Given the description of an element on the screen output the (x, y) to click on. 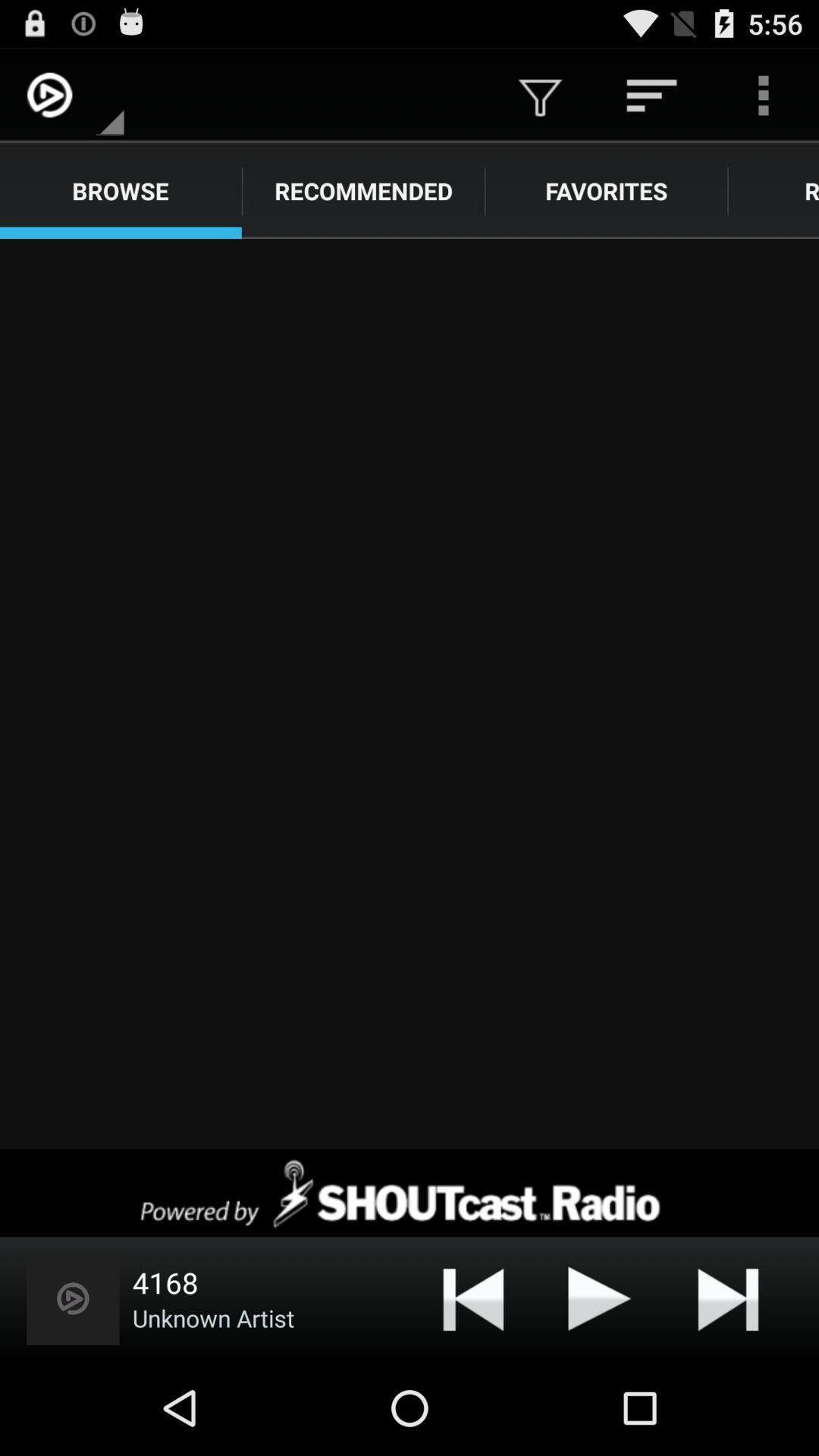
go to beginning or previous (472, 1298)
